Given the description of an element on the screen output the (x, y) to click on. 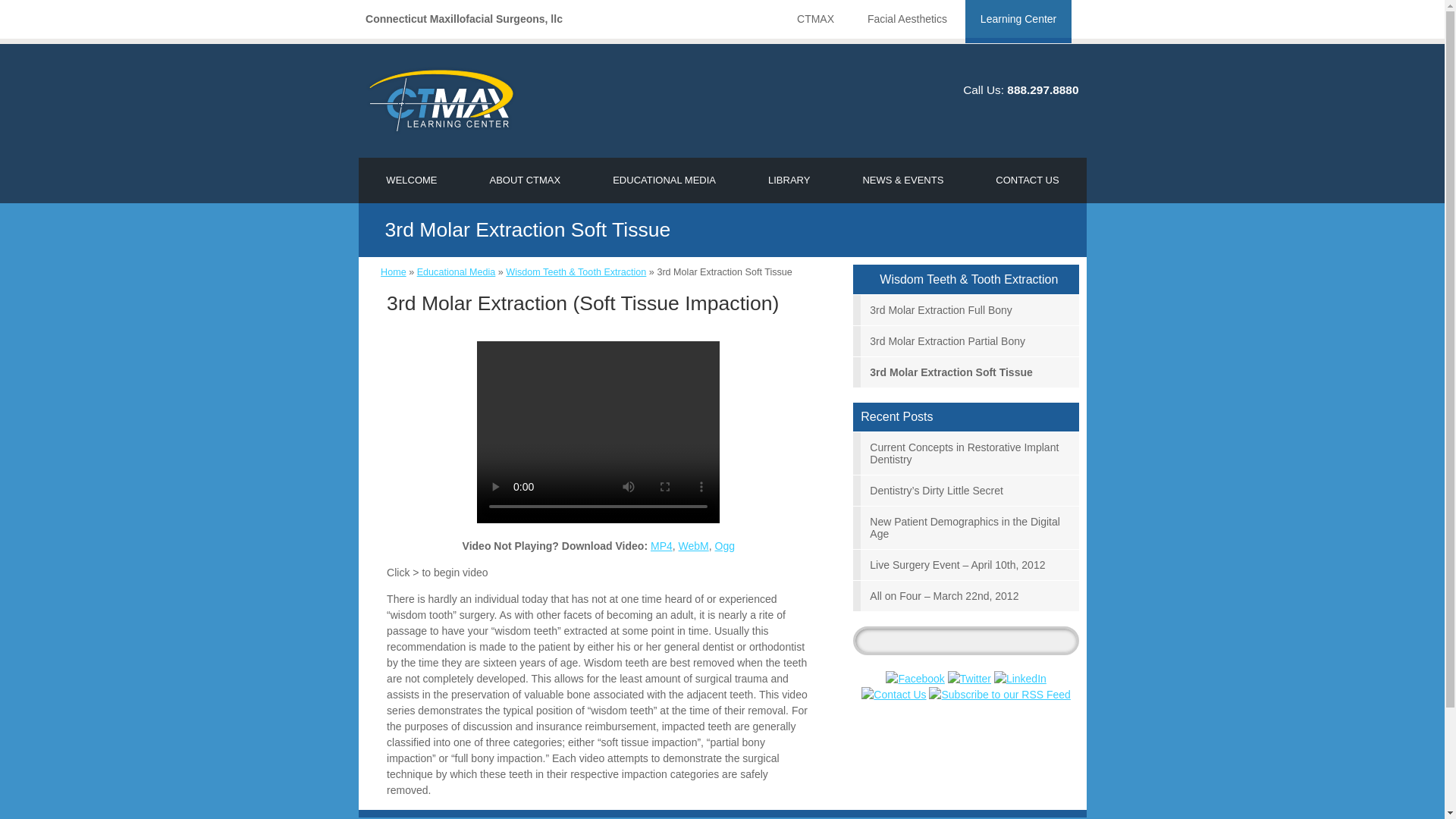
MP4 (661, 545)
Subscribe to our RSS Feed (999, 694)
Learning Center (1018, 21)
ABOUT CTMAX (525, 180)
Home (393, 271)
Educational Media (456, 271)
Twitter (969, 678)
CONTACT US (1026, 180)
LIBRARY (788, 180)
EDUCATIONAL MEDIA (663, 180)
3rd Molar Extraction Full Bony (965, 309)
Contact Us (893, 694)
3rd Molar Extraction Soft Tissue (965, 372)
Ogg (724, 545)
Facebook (914, 678)
